Given the description of an element on the screen output the (x, y) to click on. 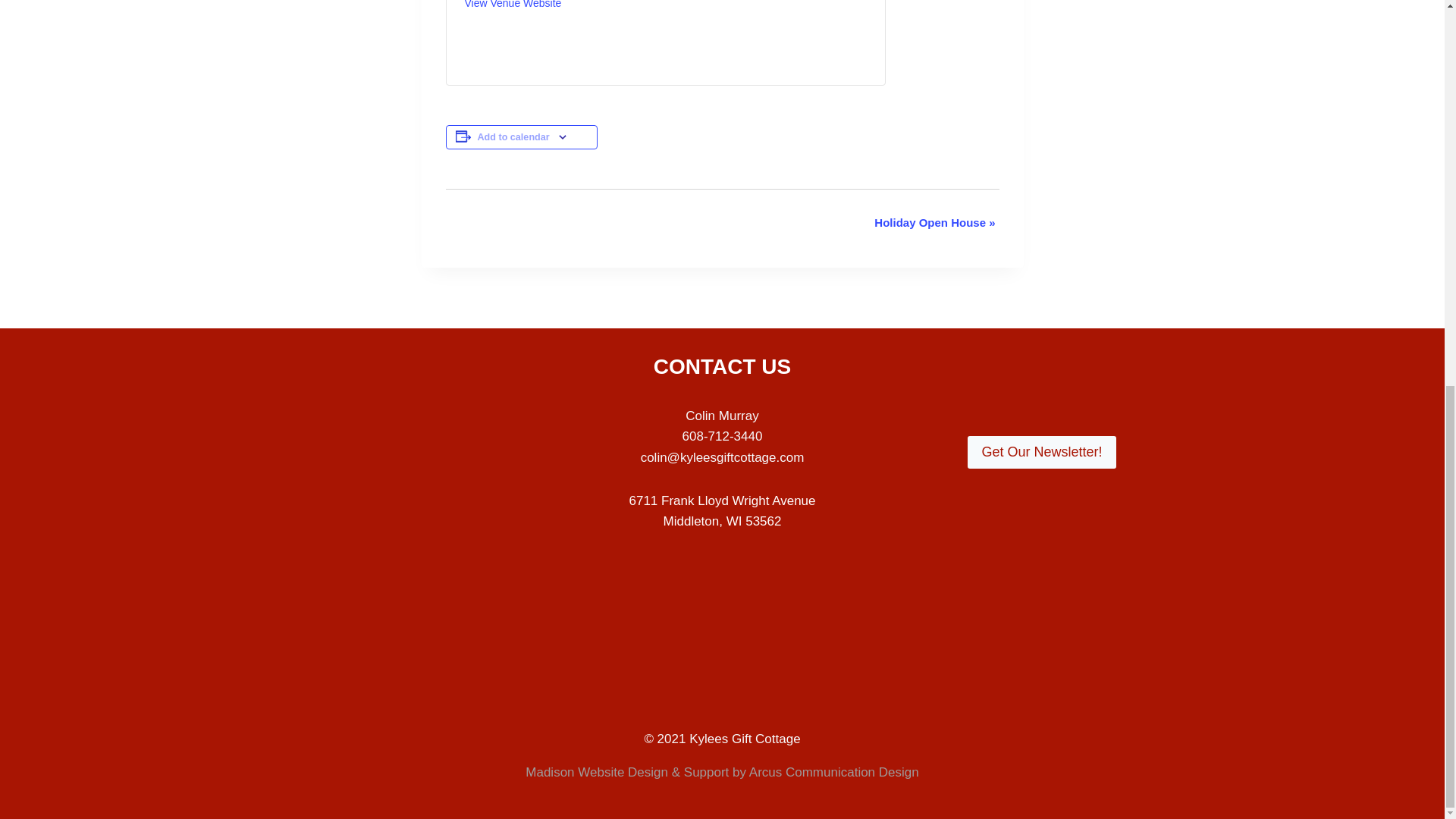
Add to calendar (513, 136)
608-712-3440 (722, 436)
Get Our Newsletter! (1041, 451)
View Venue Website (512, 4)
